Given the description of an element on the screen output the (x, y) to click on. 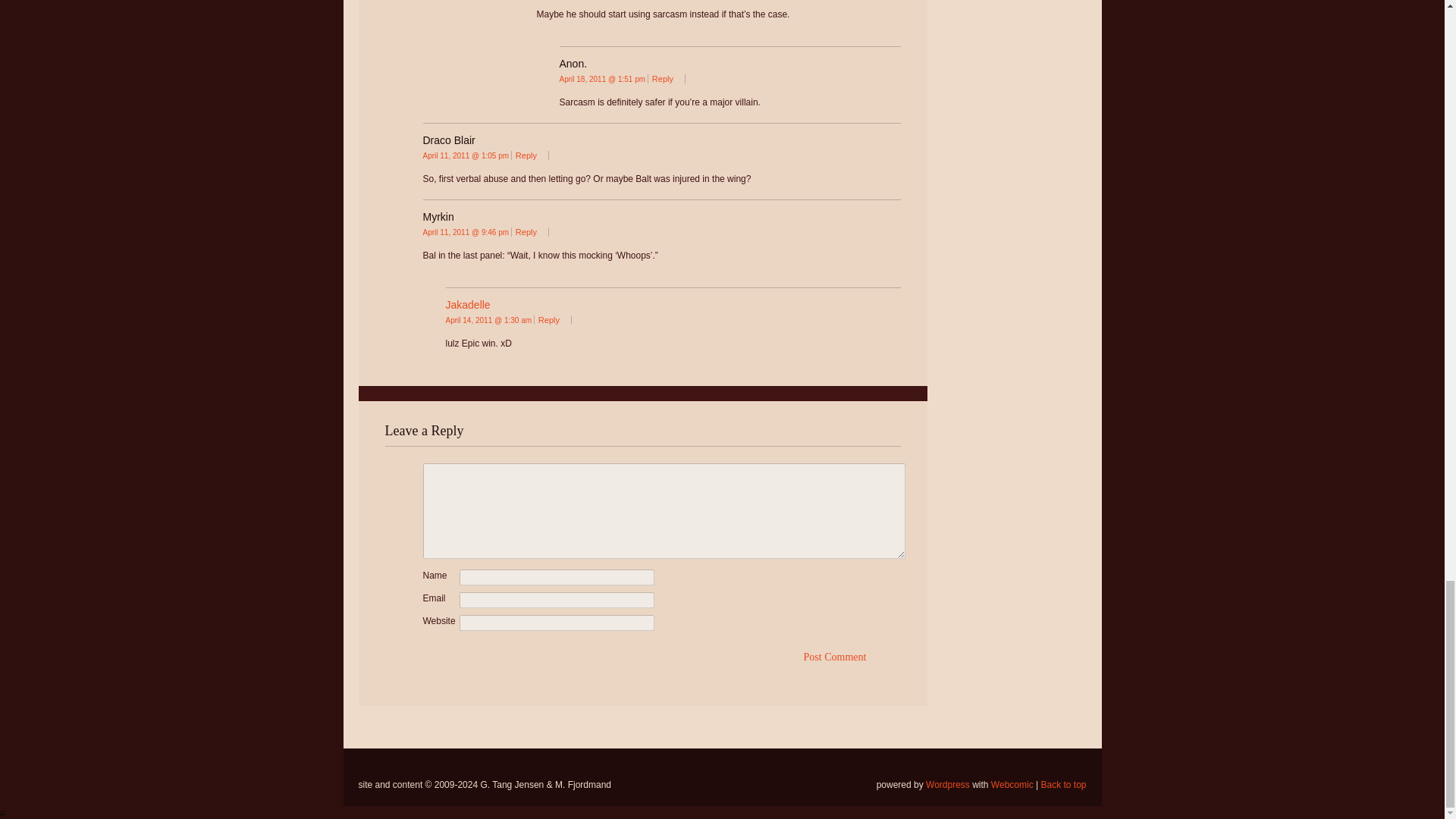
Post Comment (833, 658)
Reply (666, 78)
